Given the description of an element on the screen output the (x, y) to click on. 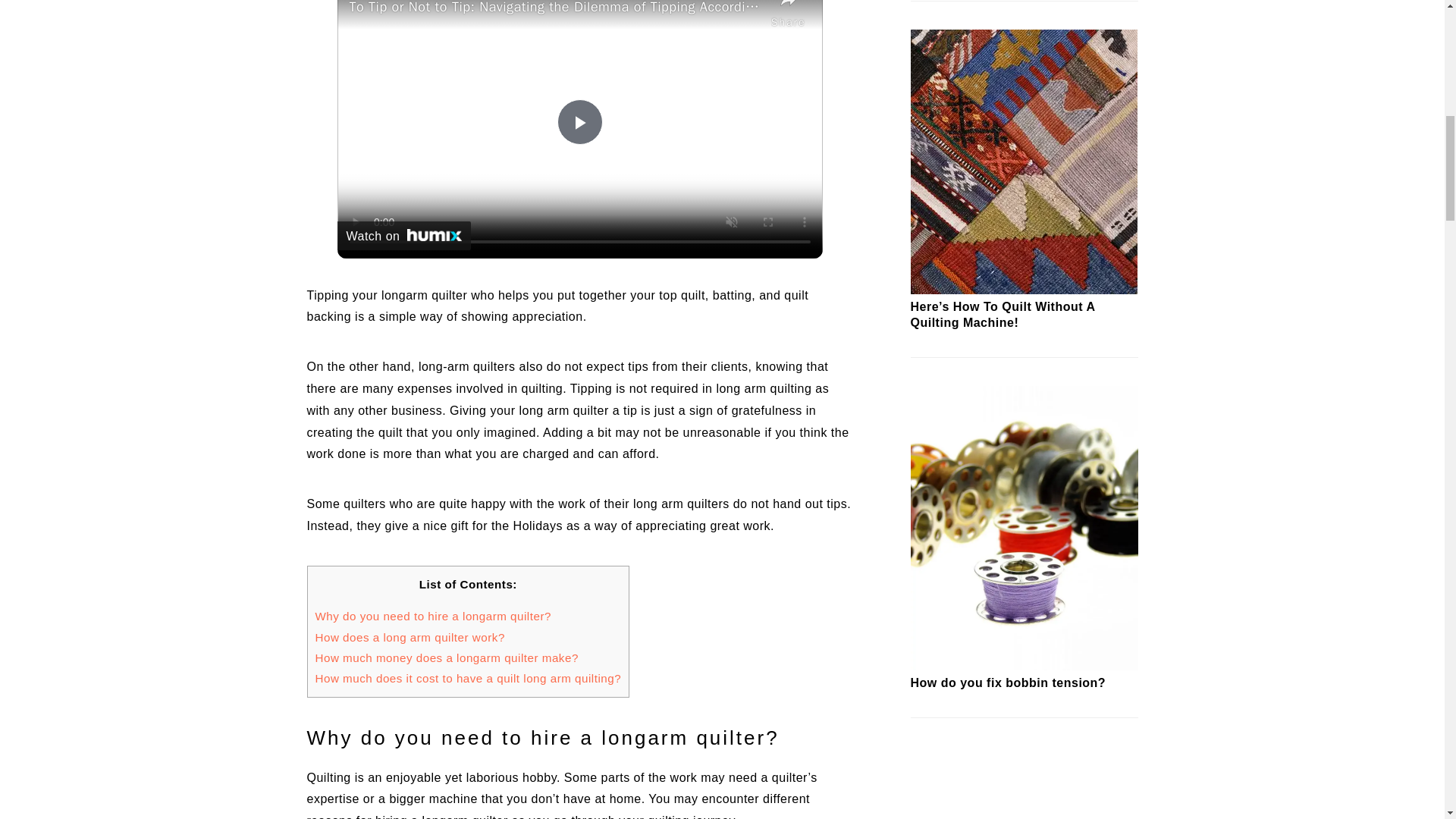
How much does it cost to have a quilt long arm quilting? (468, 677)
How do you fix bobbin tension? (1023, 666)
How does a long arm quilter work? (410, 636)
share (788, 15)
Why do you need to hire a longarm quilter? (433, 615)
Play Video (579, 121)
Share (788, 15)
Watch on (403, 235)
Play Video (579, 121)
How much money does a longarm quilter make? (446, 657)
